Given the description of an element on the screen output the (x, y) to click on. 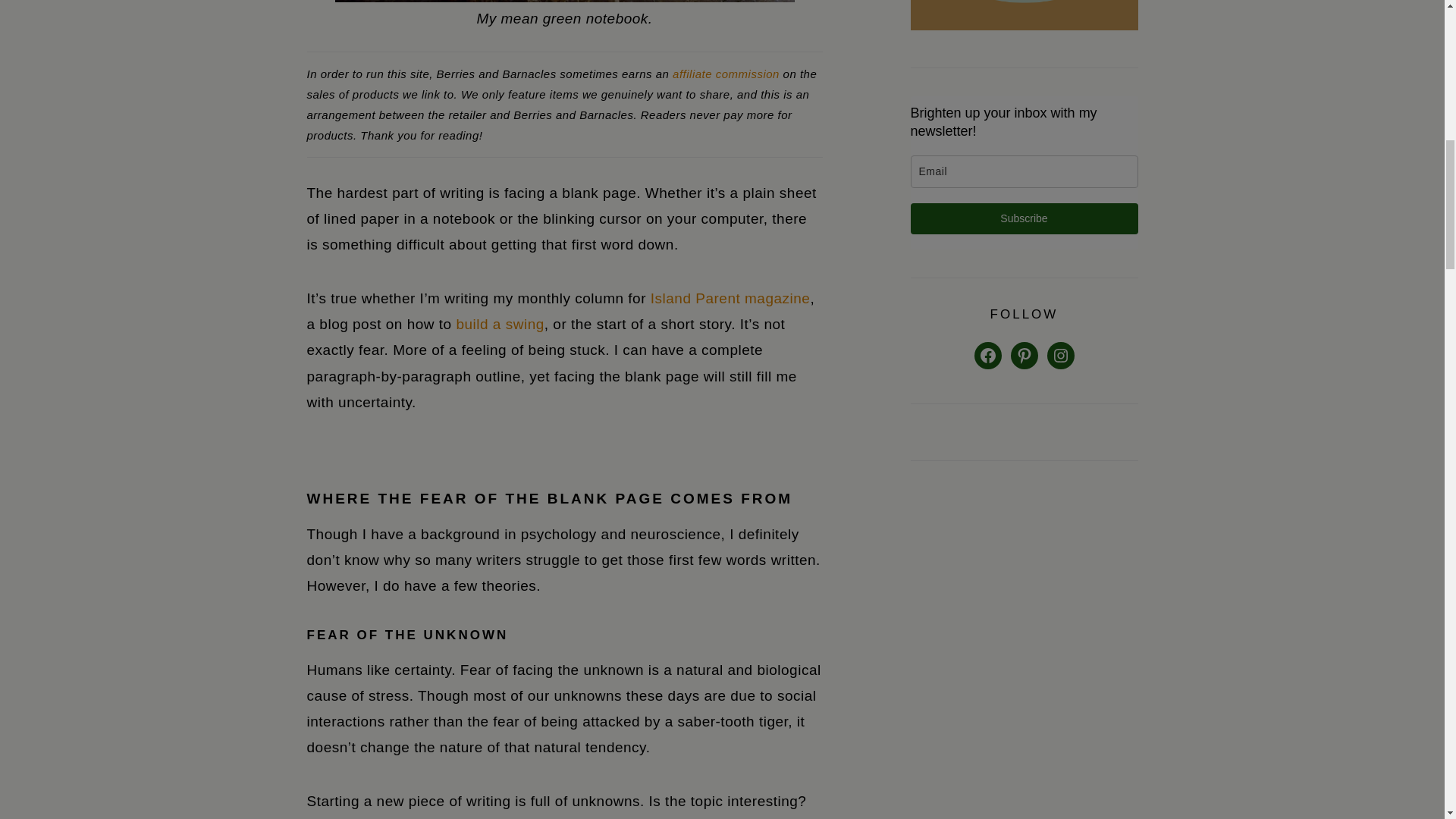
Subscribe (1023, 218)
affiliate commission (725, 73)
Island Parent magazine (730, 298)
build a swing (499, 324)
